Given the description of an element on the screen output the (x, y) to click on. 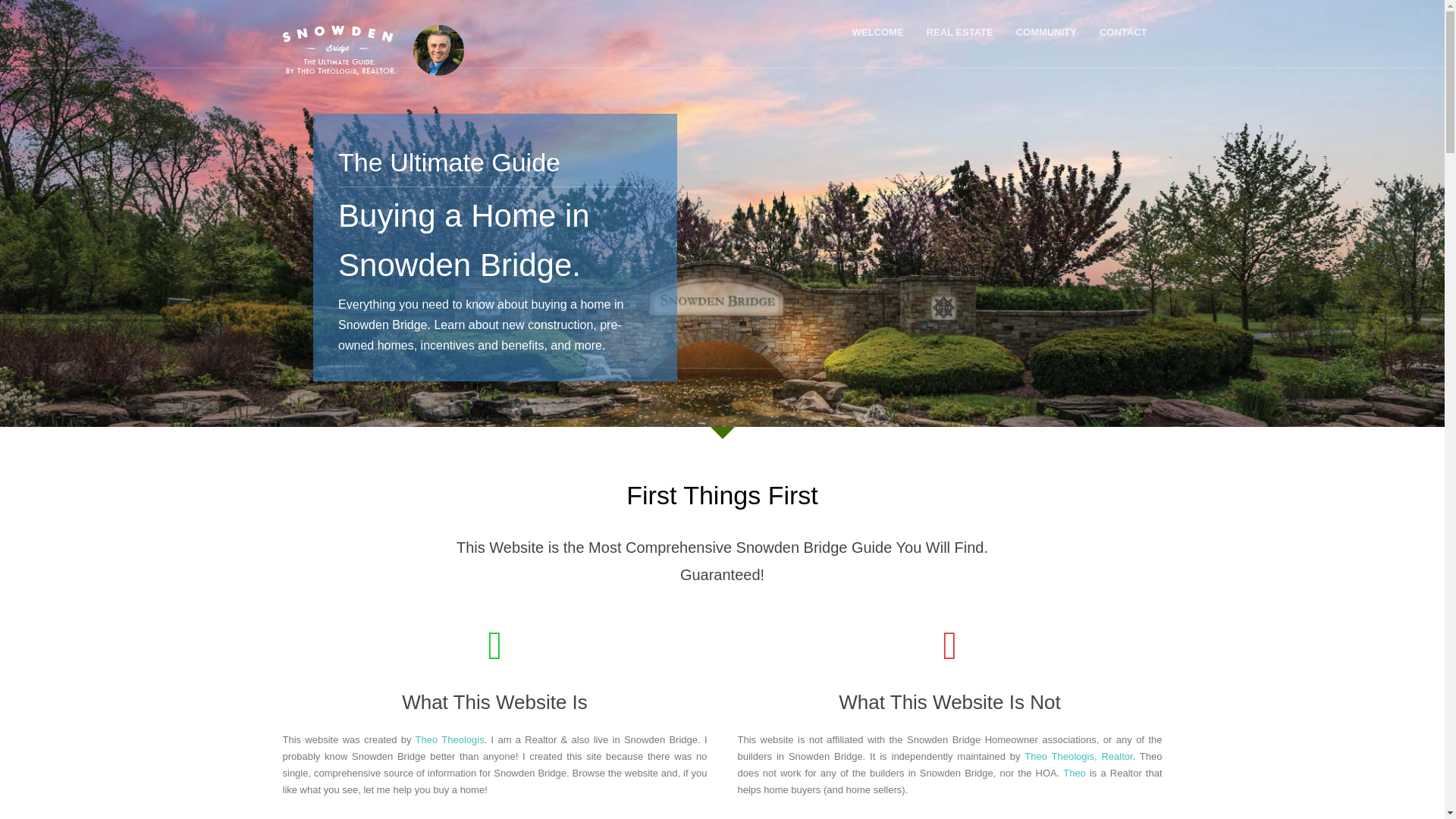
REAL ESTATE (959, 32)
WELCOME (878, 32)
COMMUNITY (1045, 32)
CONTACT (1122, 32)
